Given the description of an element on the screen output the (x, y) to click on. 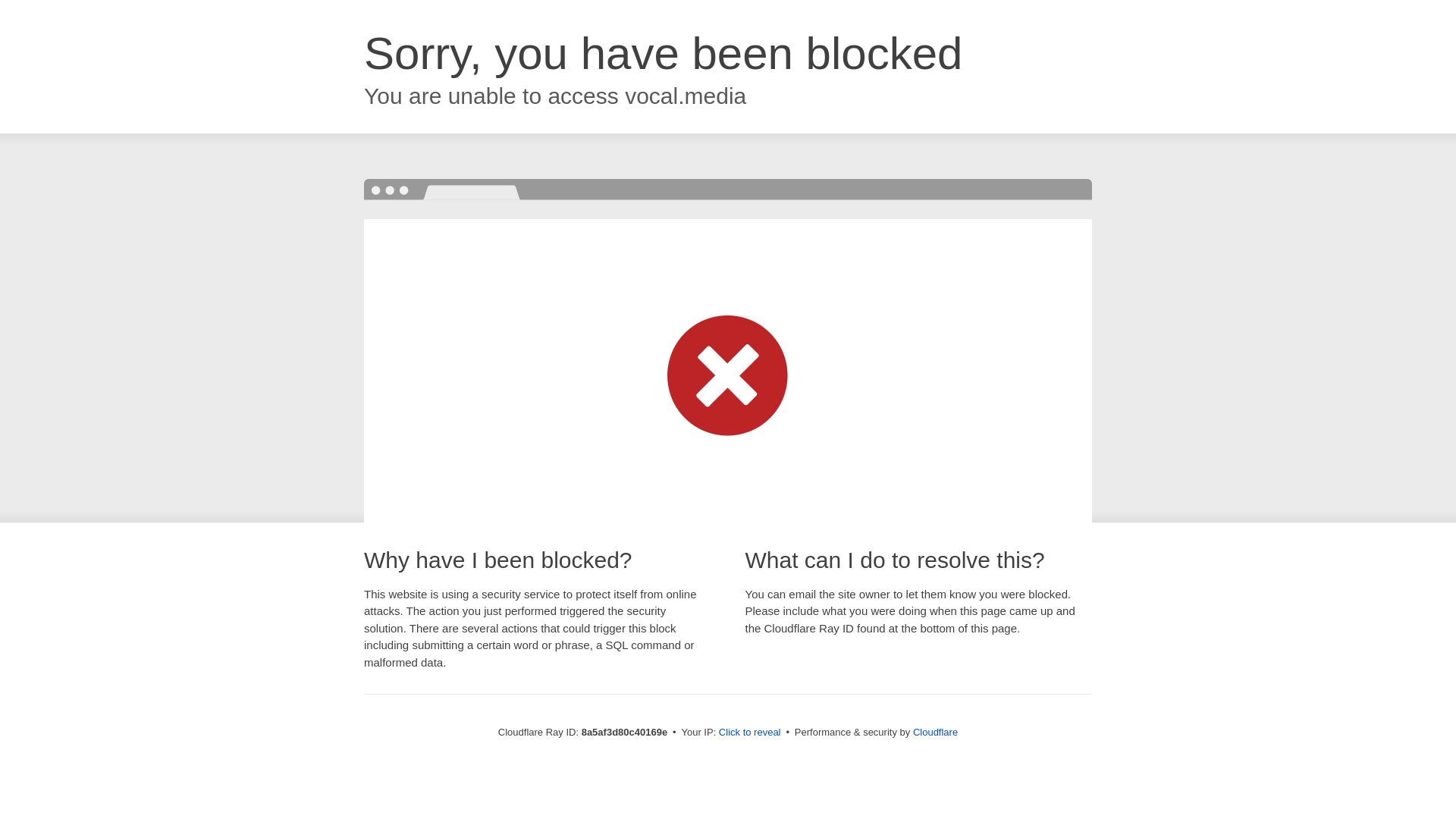
Click to reveal (749, 732)
Cloudflare (935, 731)
